Given the description of an element on the screen output the (x, y) to click on. 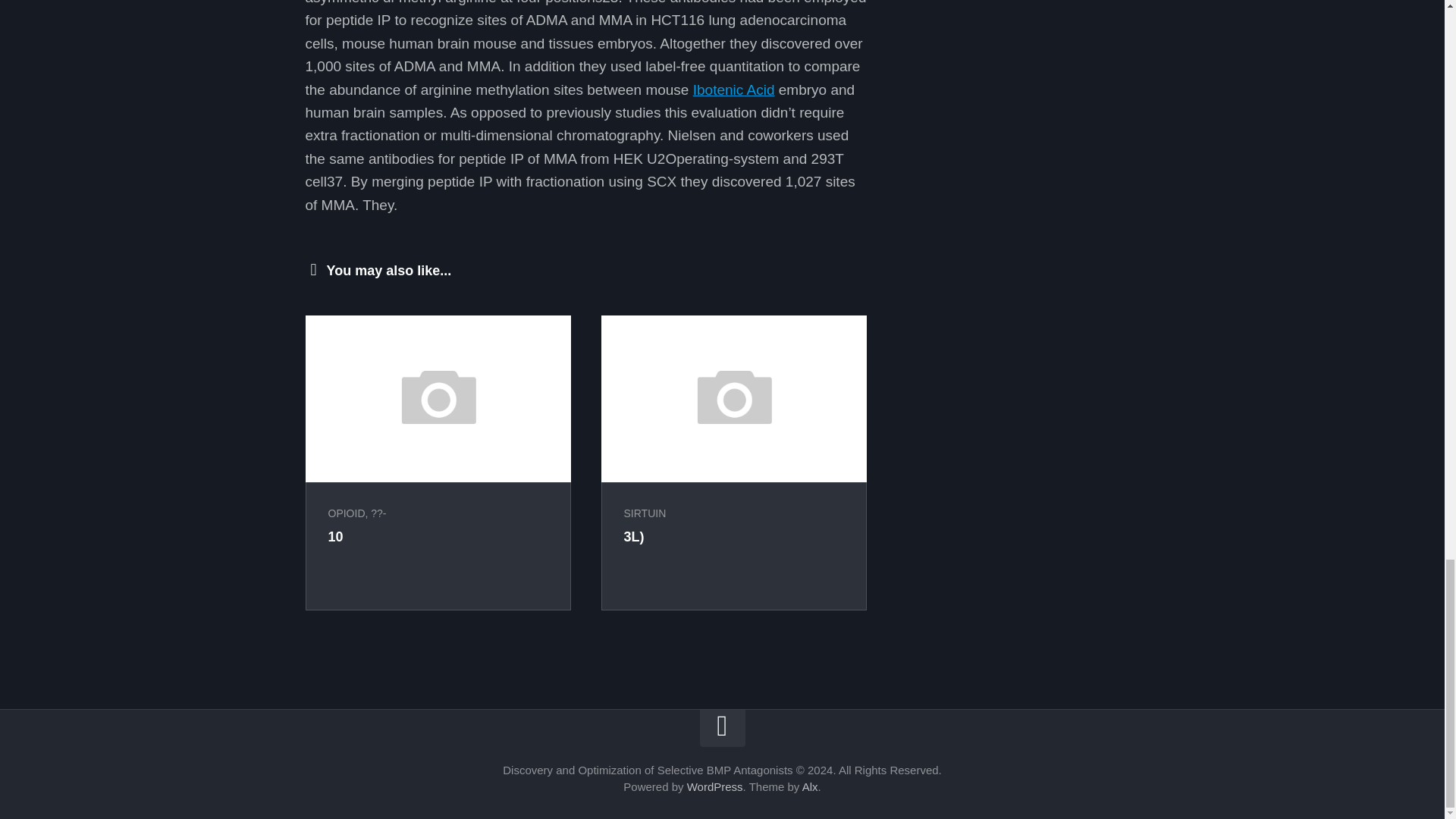
WordPress (714, 786)
SIRTUIN (644, 512)
Ibotenic Acid (733, 89)
Alx (810, 786)
OPIOID, ??- (356, 512)
10 (334, 536)
